Given the description of an element on the screen output the (x, y) to click on. 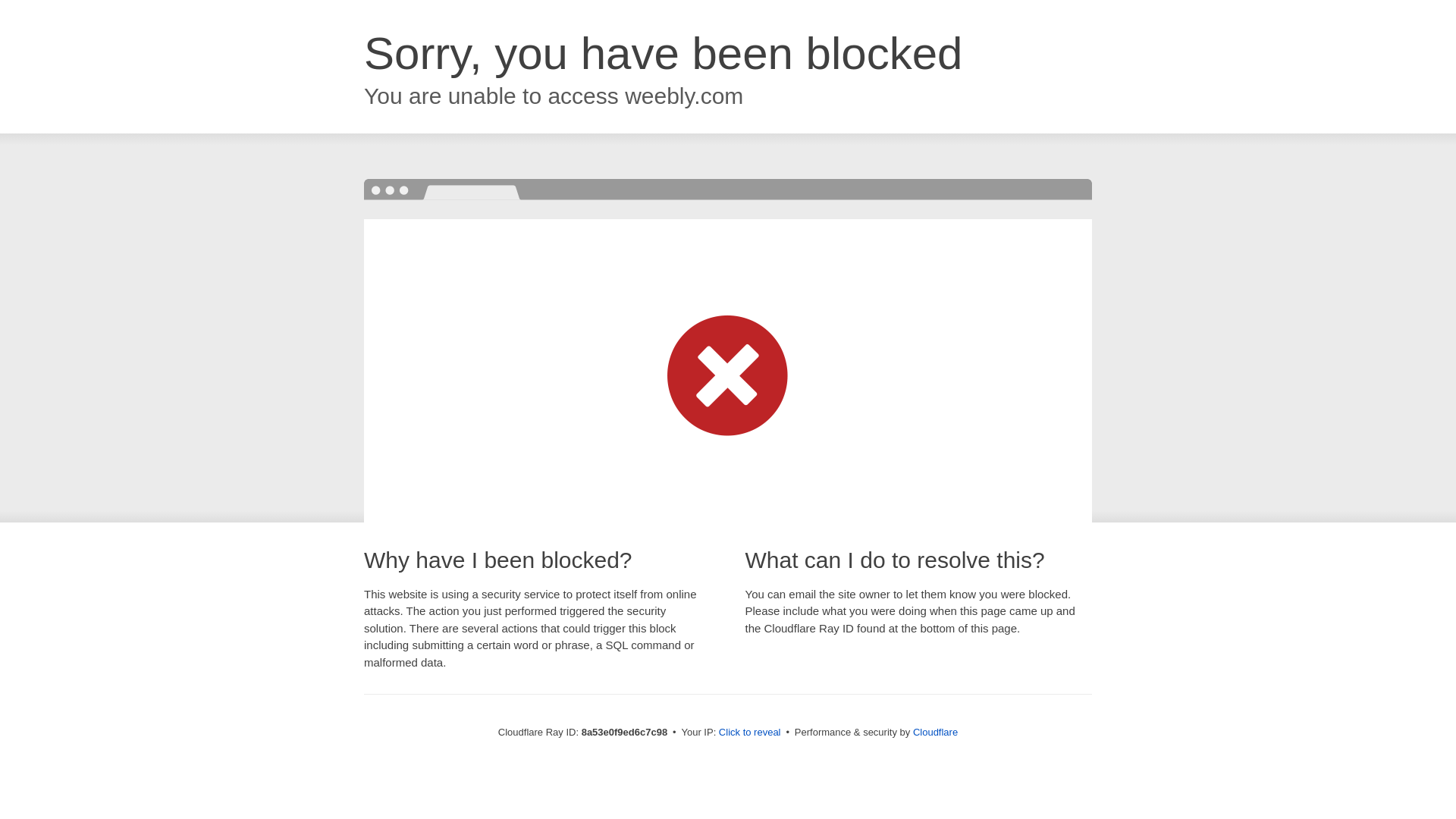
Cloudflare (935, 731)
Click to reveal (749, 732)
